Given the description of an element on the screen output the (x, y) to click on. 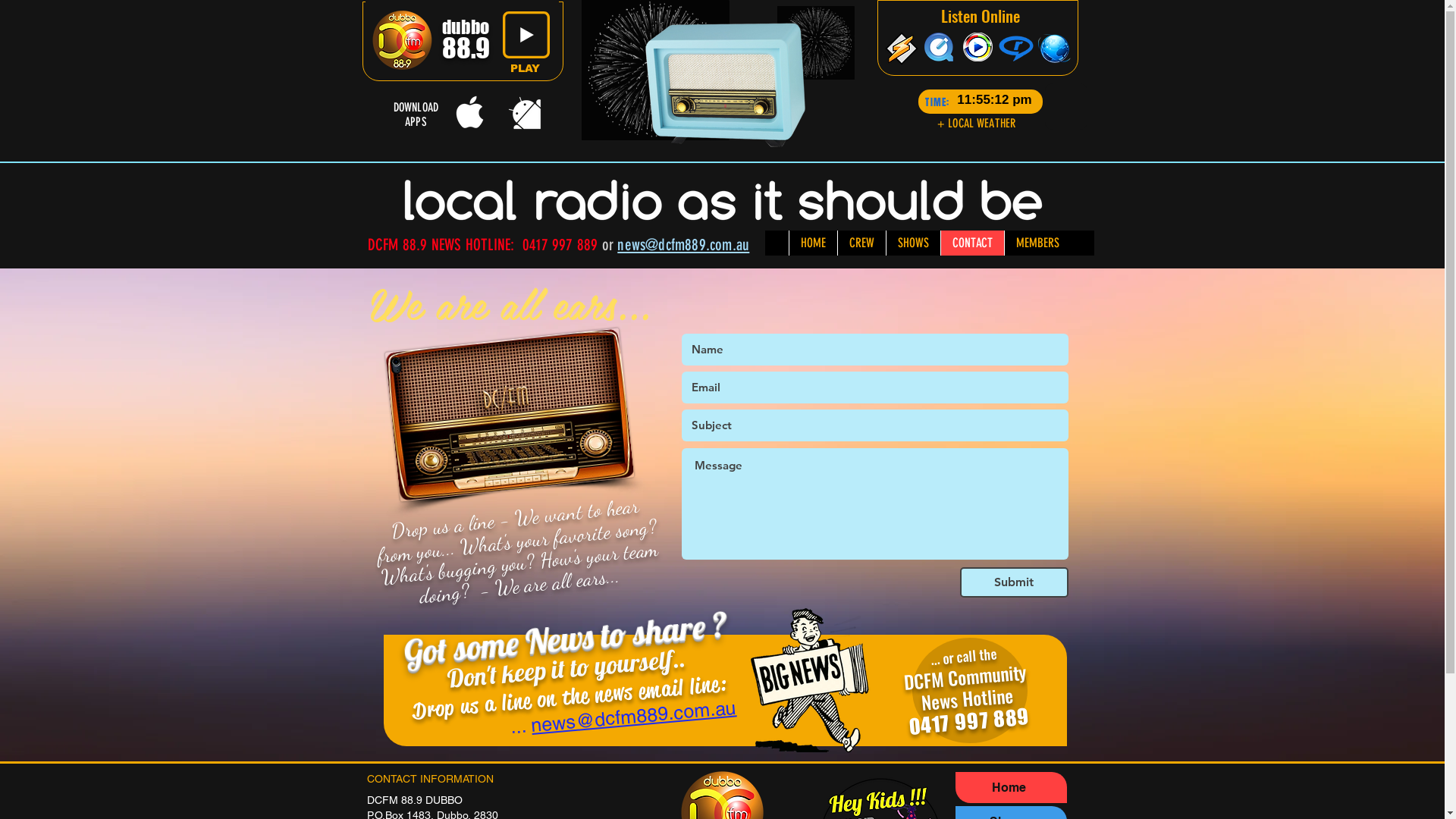
Home Element type: text (1010, 787)
Submit Element type: text (1014, 582)
Big Radio 1.png Element type: hover (501, 402)
CONTACT Element type: text (972, 242)
                  ... news@dcfm889.com.au Element type: text (575, 706)
MEMBERS Element type: text (1037, 242)
Embedded Content Element type: hover (1010, 100)
HOME Element type: text (812, 242)
CREW Element type: text (861, 242)
news@dcfm889.com.au Element type: text (683, 244)
SHOWS Element type: text (912, 242)
